Given the description of an element on the screen output the (x, y) to click on. 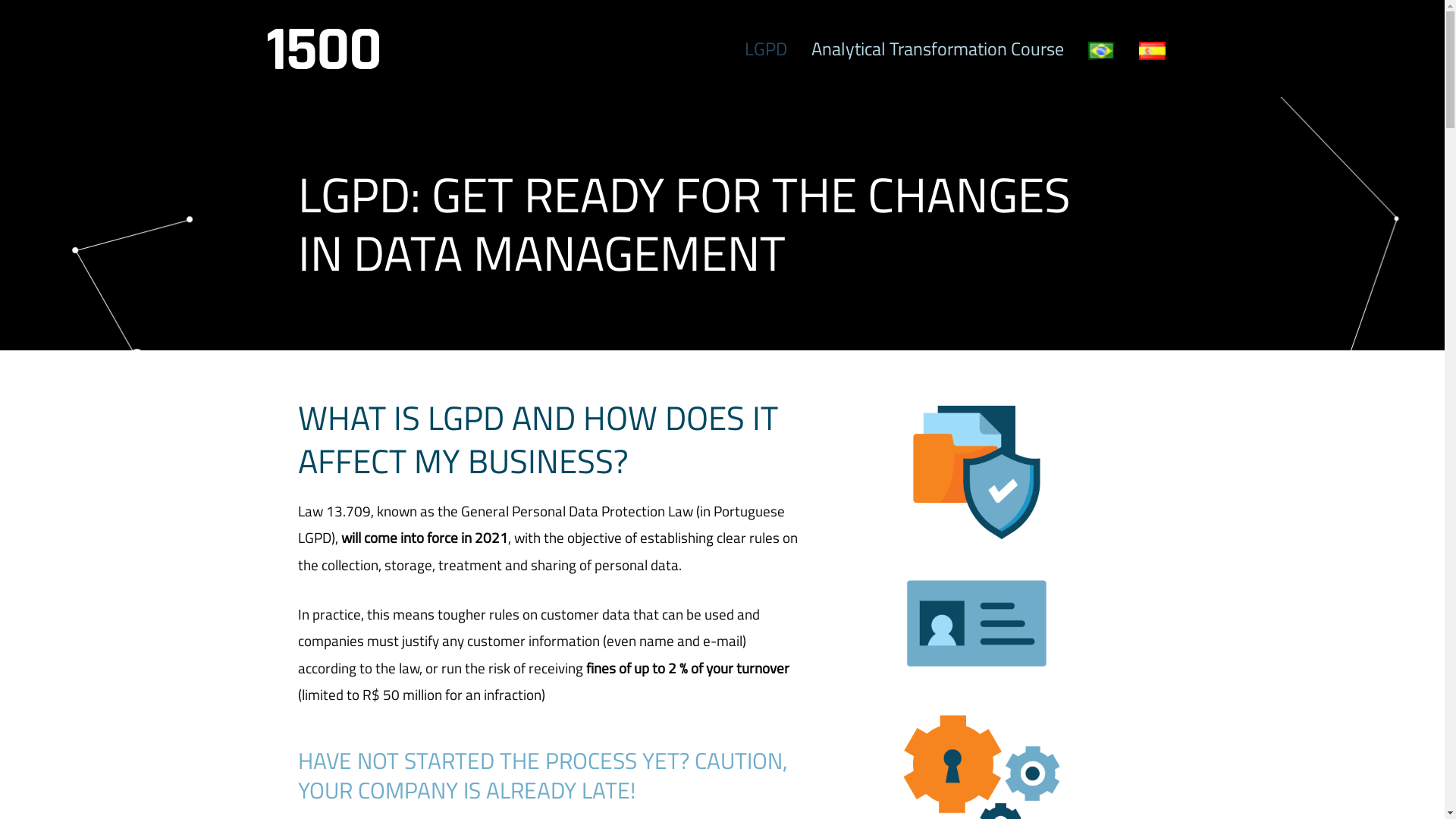
Analytical Transformation Course Element type: text (937, 48)
LGPD Element type: text (765, 48)
